Given the description of an element on the screen output the (x, y) to click on. 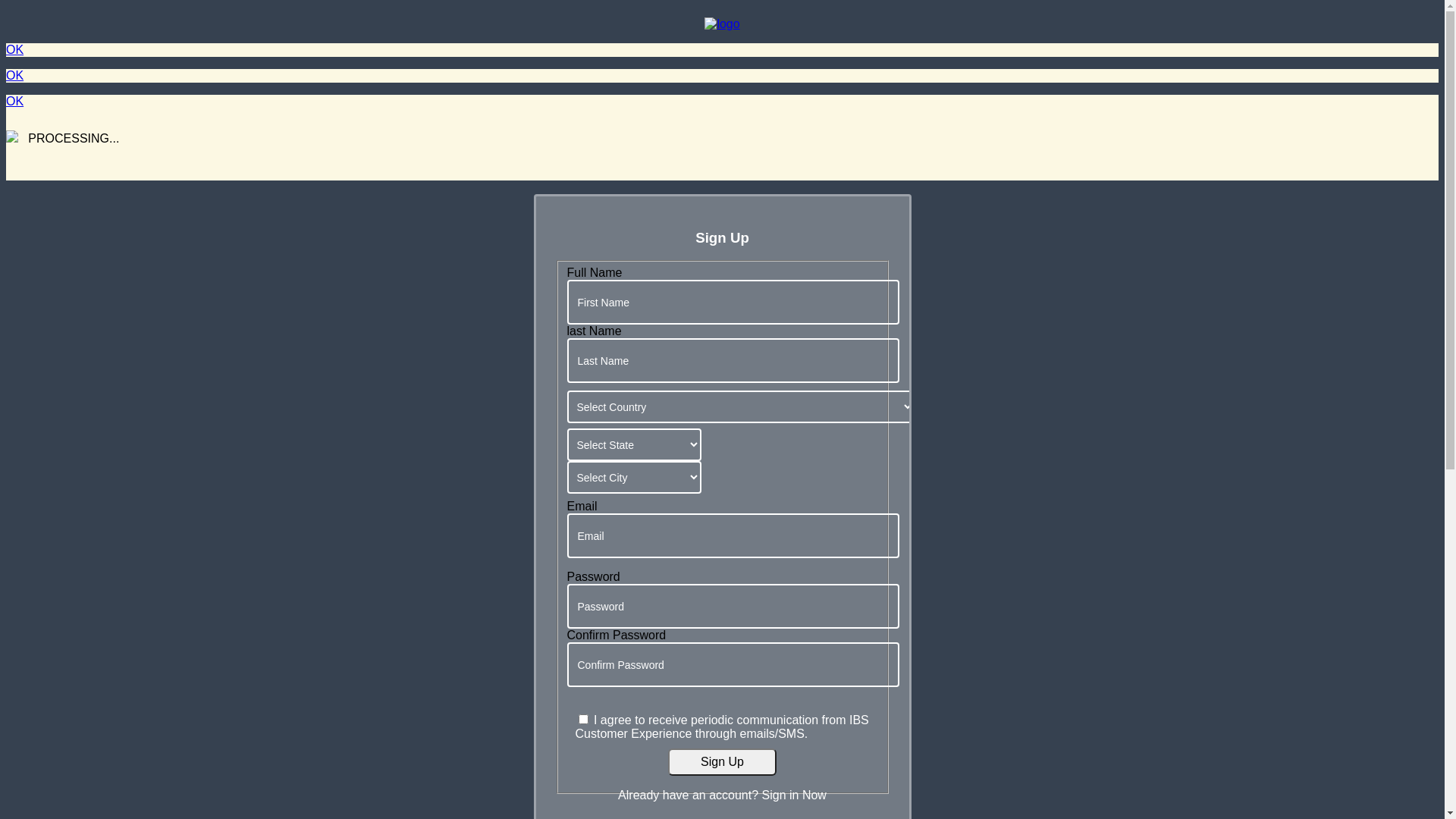
OK Element type: text (14, 100)
Sign Up Element type: text (722, 761)
OK Element type: text (14, 75)
Already have an account? Sign in Now Element type: text (722, 788)
OK Element type: text (14, 49)
